Given the description of an element on the screen output the (x, y) to click on. 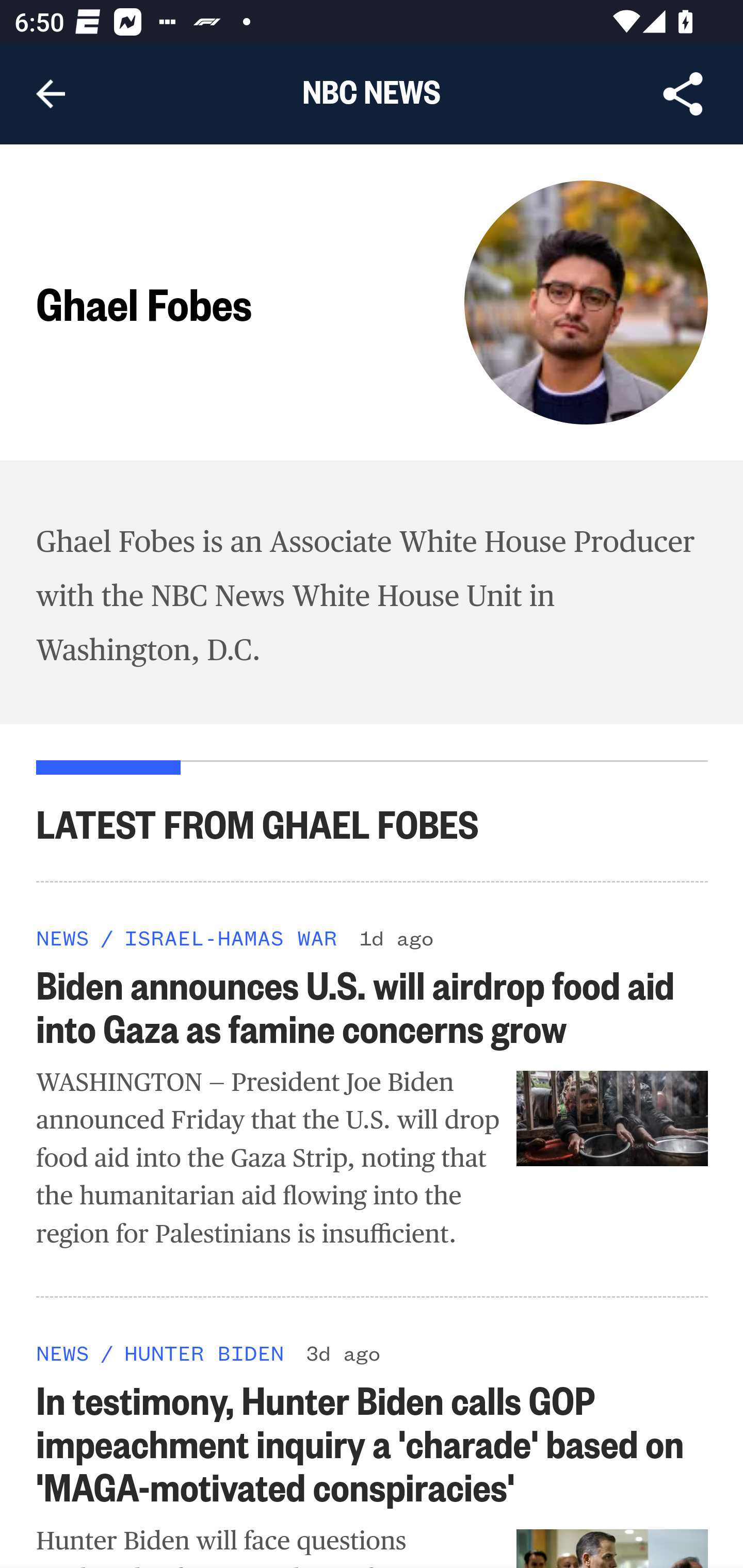
Navigate up (50, 93)
Share Article, button (683, 94)
NEWS NEWS NEWS (63, 936)
ISRAEL-HAMAS WAR ISRAEL-HAMAS WAR ISRAEL-HAMAS WAR (229, 936)
NEWS NEWS NEWS (63, 1351)
HUNTER BIDEN HUNTER BIDEN HUNTER BIDEN (203, 1351)
